Given the description of an element on the screen output the (x, y) to click on. 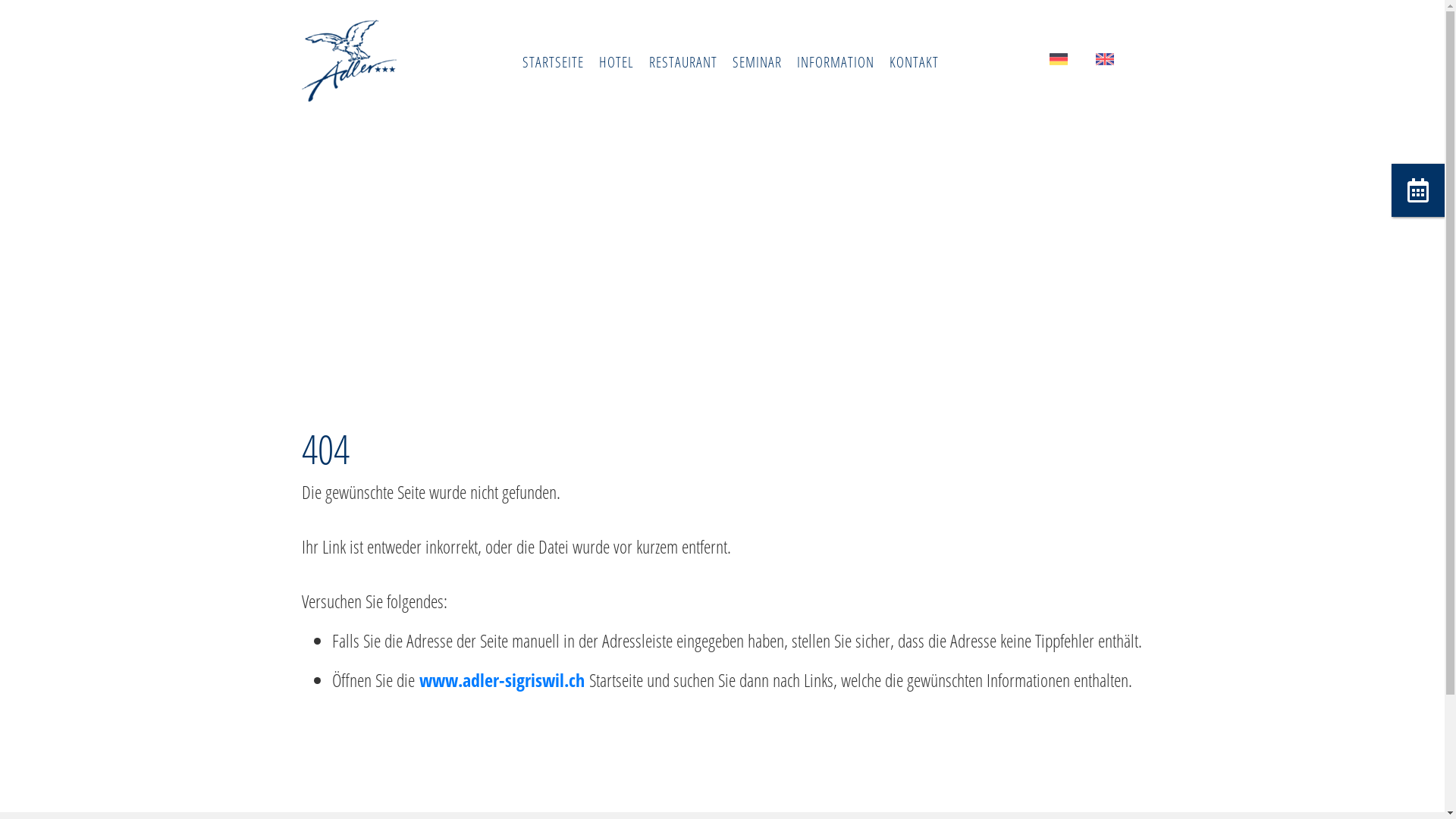
KONTAKT Element type: text (913, 61)
HOTEL Element type: text (616, 61)
www.adler-sigriswil.ch Element type: text (500, 679)
INFORMATION Element type: text (834, 61)
SEMINAR Element type: text (756, 61)
RESTAURANT Element type: text (683, 61)
STARTSEITE Element type: text (552, 61)
